Given the description of an element on the screen output the (x, y) to click on. 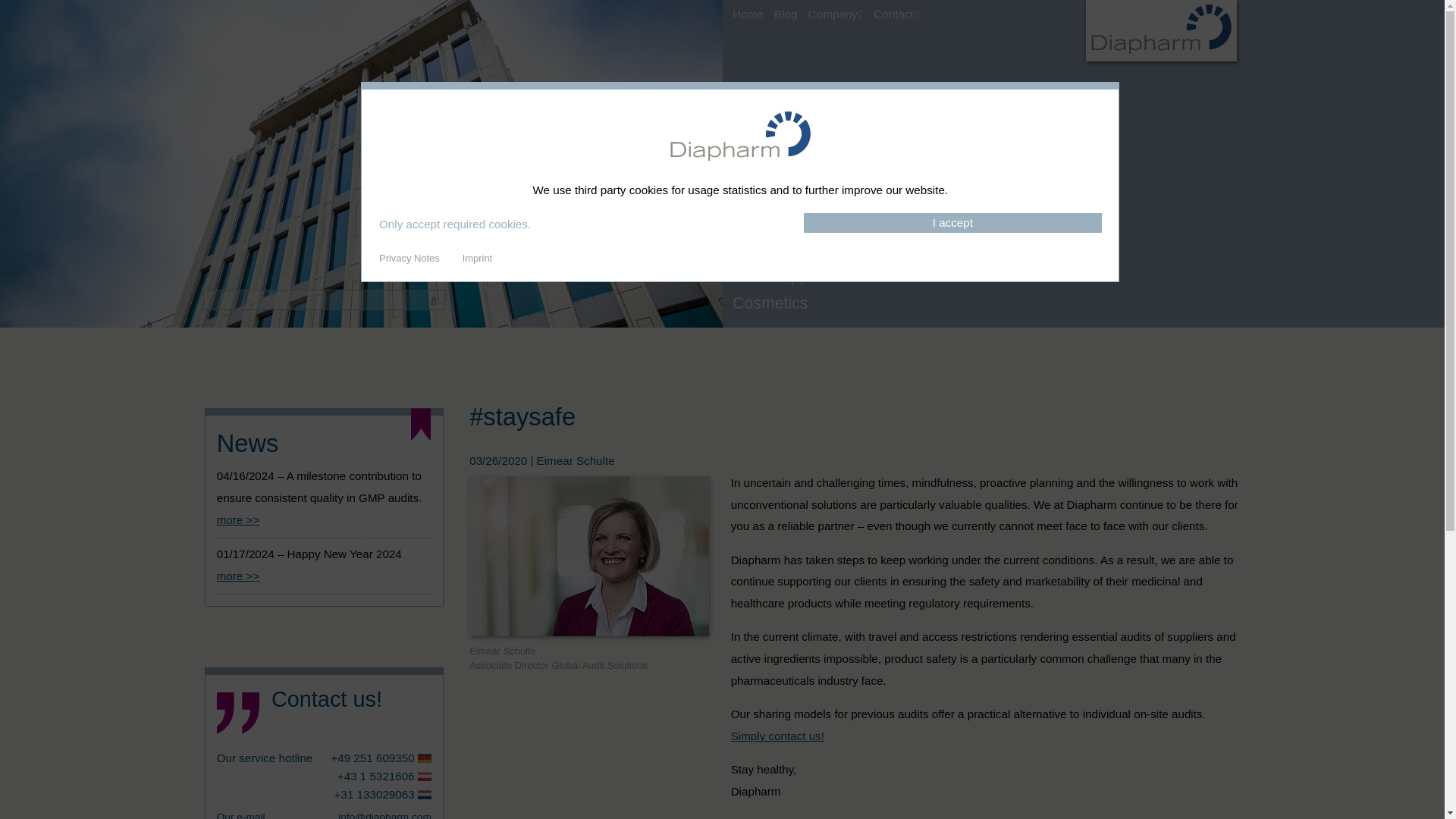
Medicinal products (807, 222)
www.diapharm.co.uk (1161, 56)
Contact (901, 12)
Eimear Schulte (588, 555)
Home (753, 12)
Company (840, 12)
Blog (791, 12)
Medical devices (807, 249)
